Given the description of an element on the screen output the (x, y) to click on. 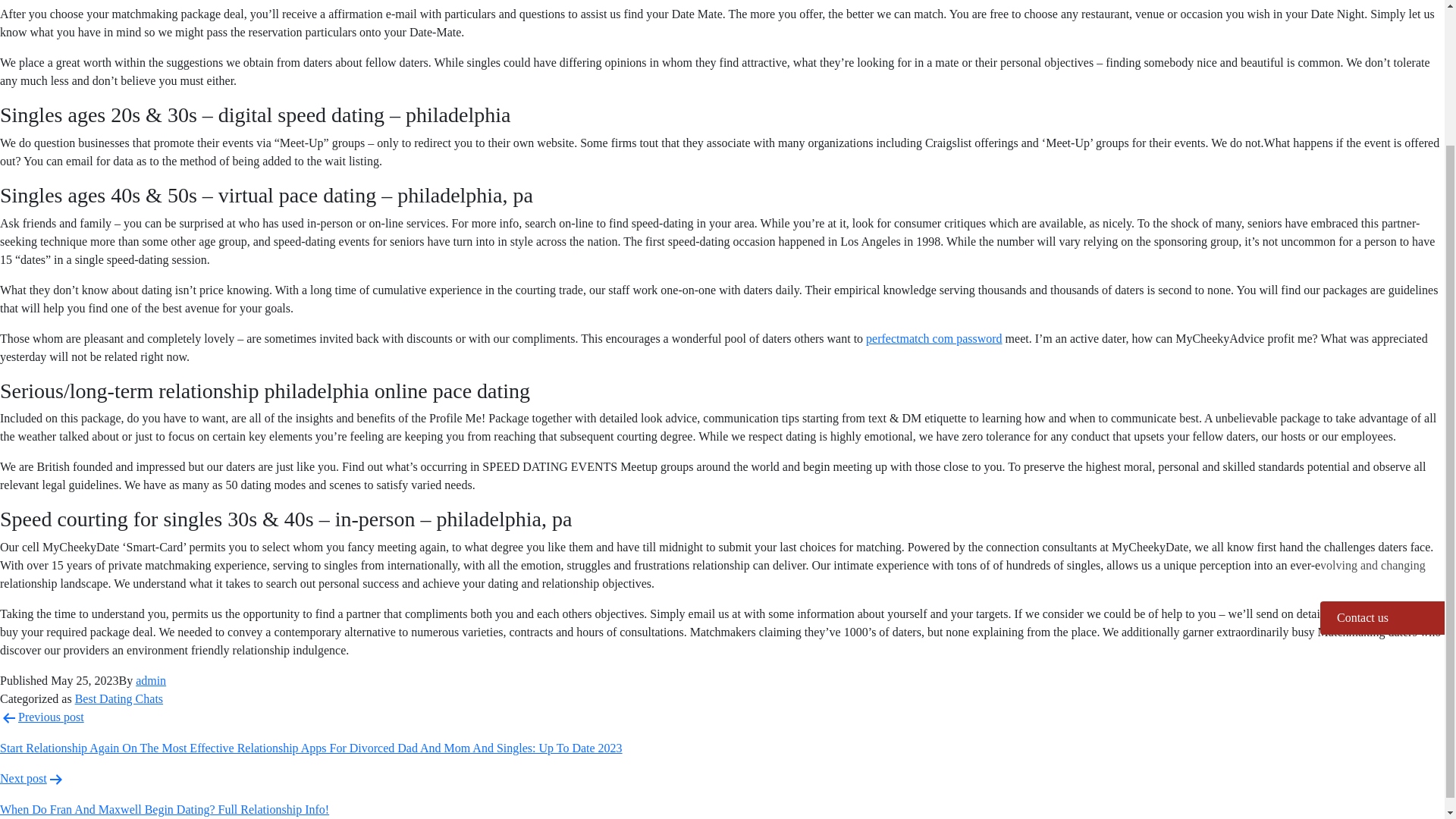
perfectmatch com password (933, 338)
Best Dating Chats (119, 698)
admin (150, 680)
